Given the description of an element on the screen output the (x, y) to click on. 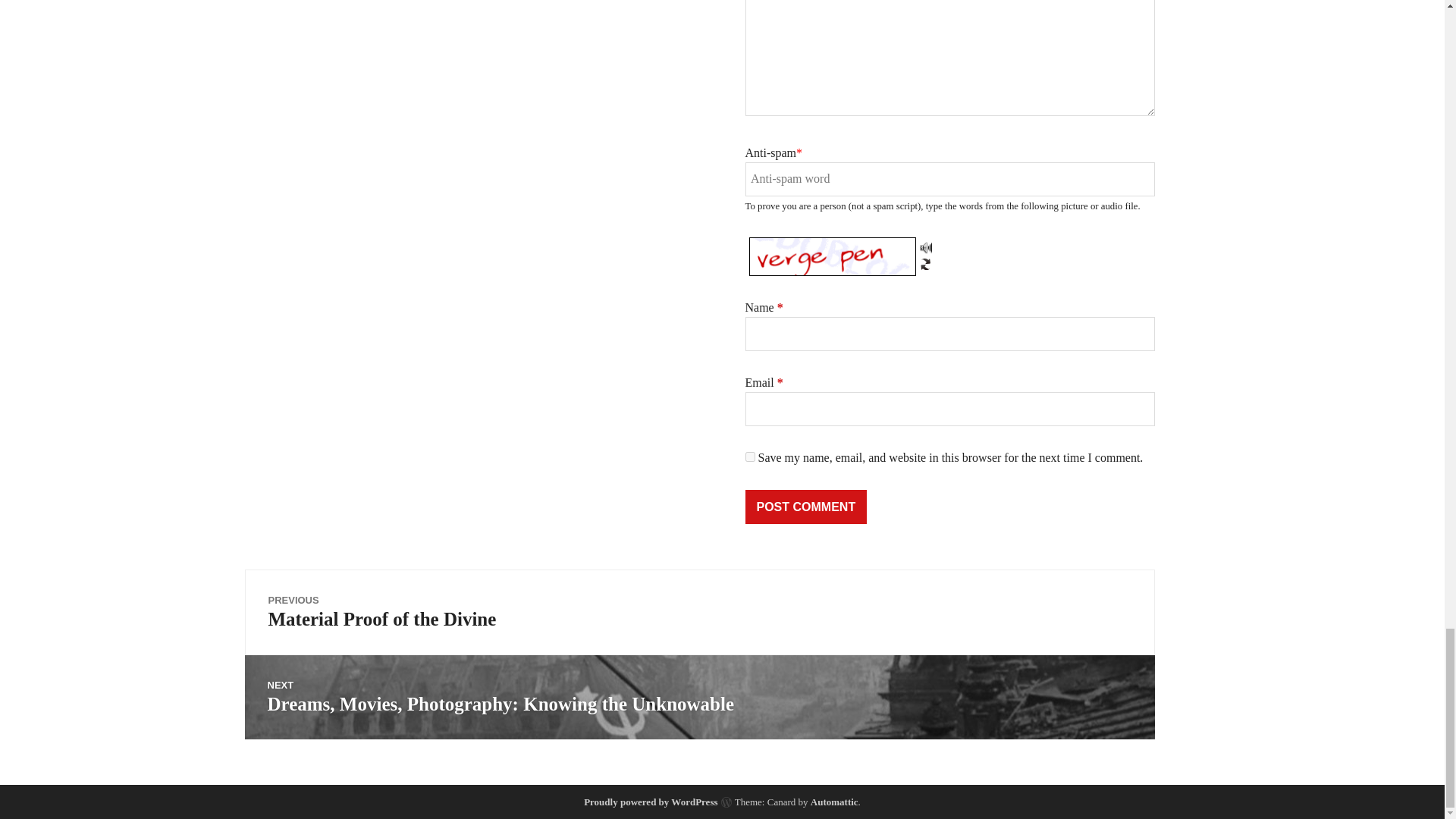
Post Comment (805, 506)
Listen (924, 246)
yes (749, 456)
Load new (924, 263)
Post Comment (805, 506)
